Given the description of an element on the screen output the (x, y) to click on. 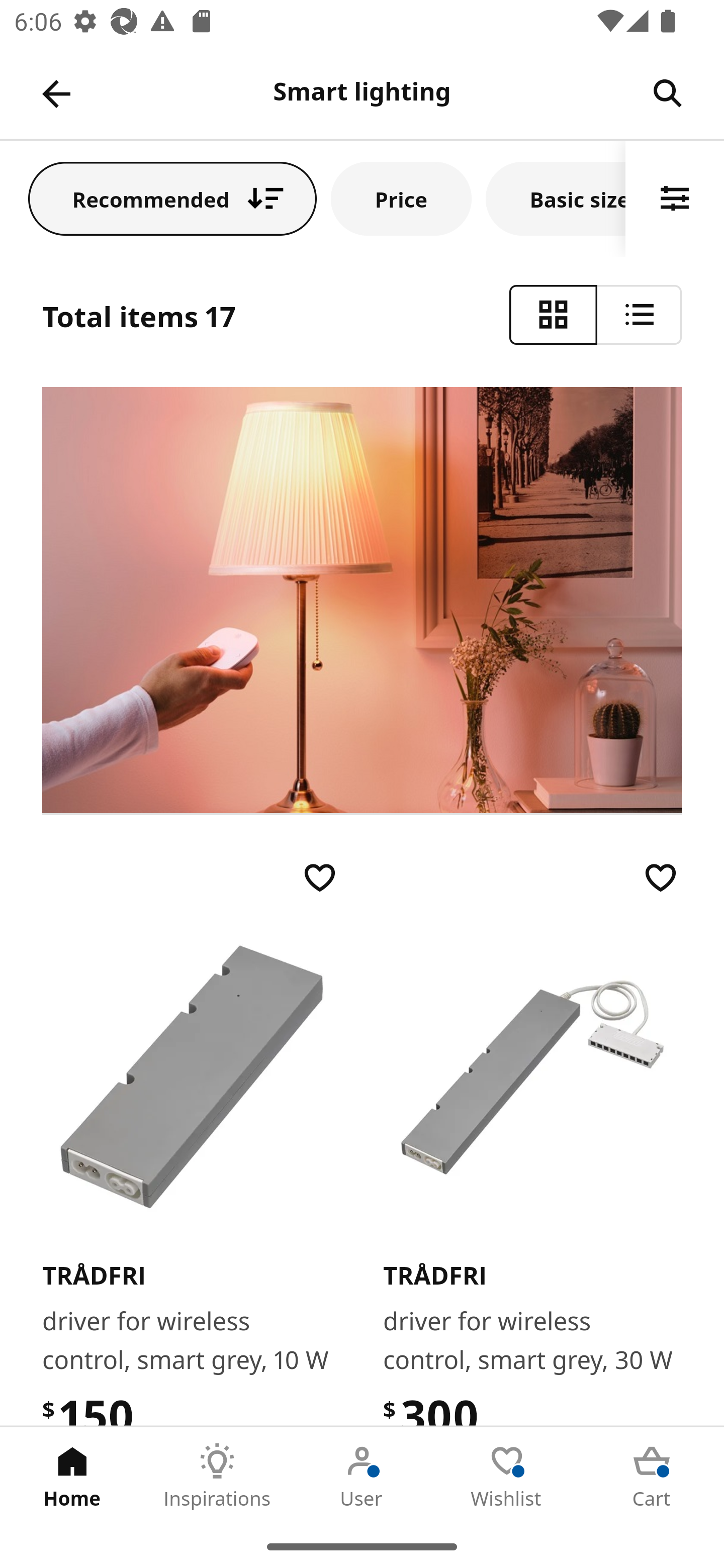
Recommended (172, 198)
Price (400, 198)
Basic sizes (555, 198)
Home
Tab 1 of 5 (72, 1476)
Inspirations
Tab 2 of 5 (216, 1476)
User
Tab 3 of 5 (361, 1476)
Wishlist
Tab 4 of 5 (506, 1476)
Cart
Tab 5 of 5 (651, 1476)
